Given the description of an element on the screen output the (x, y) to click on. 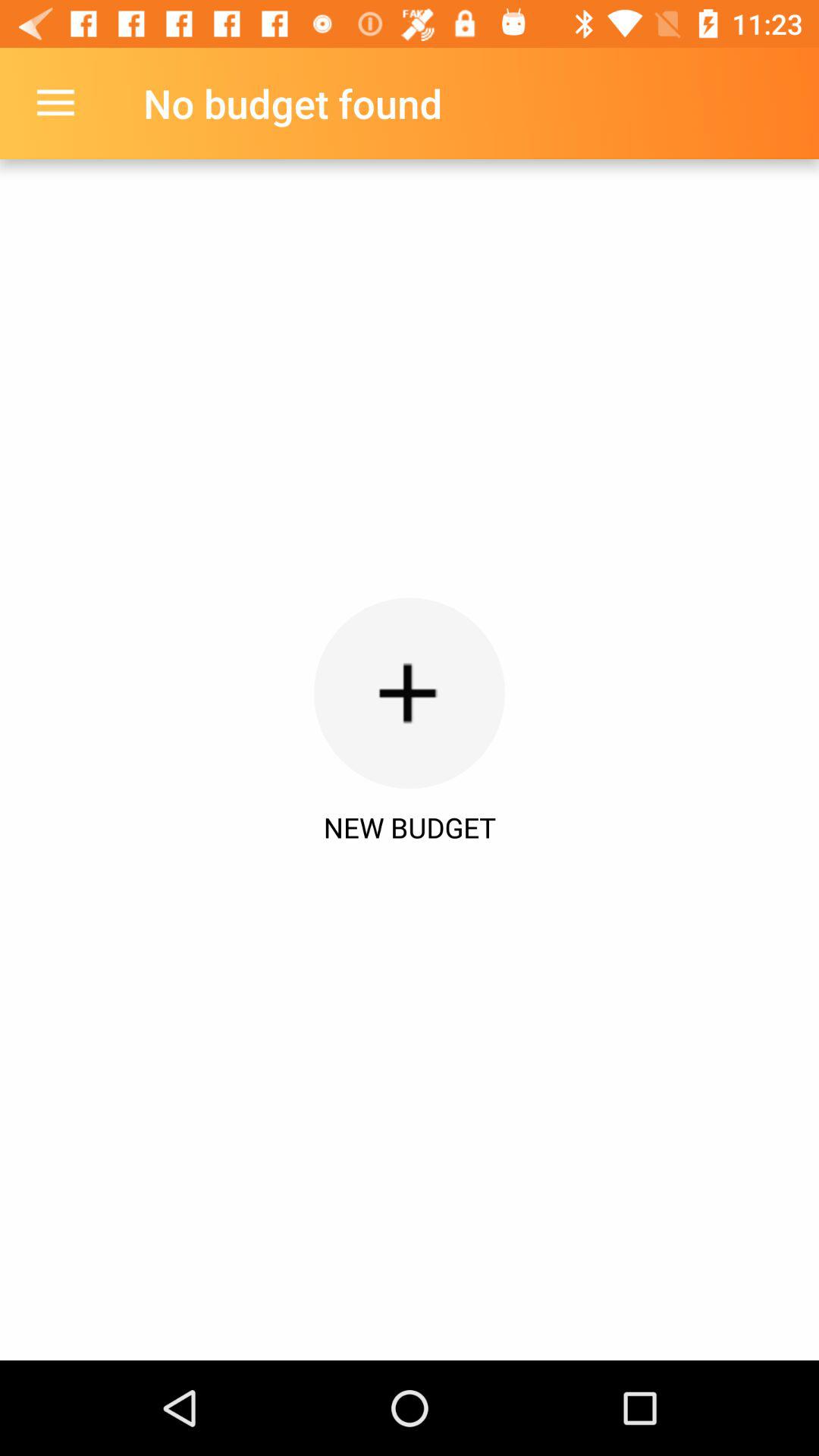
launch the icon above the new budget icon (55, 103)
